Given the description of an element on the screen output the (x, y) to click on. 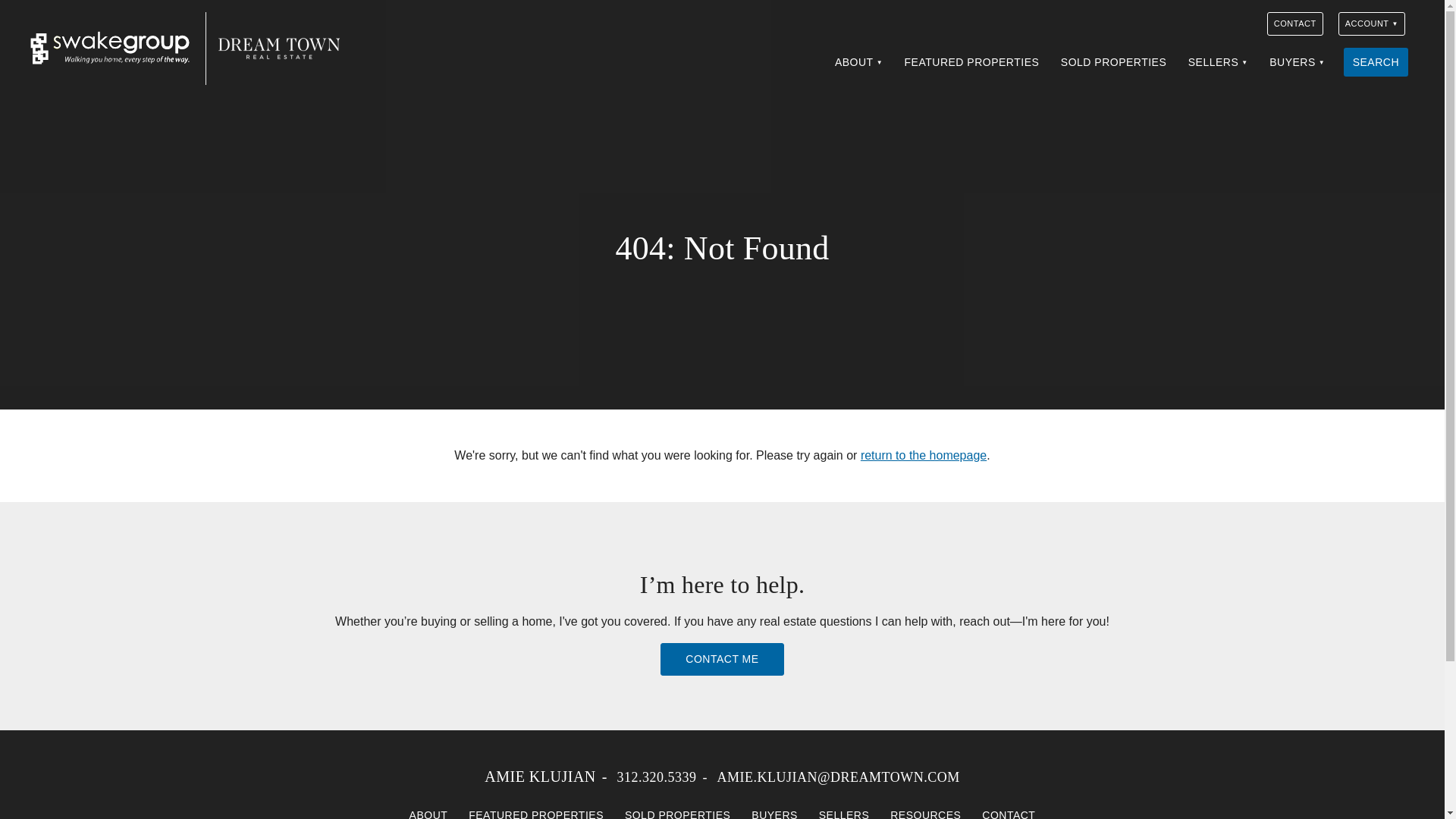
SOLD PROPERTIES (1113, 61)
FEATURED PROPERTIES (971, 61)
CONTACT ME (722, 658)
CONTACT (1294, 24)
AMIE KLUJIAN (539, 776)
return to the homepage (923, 454)
BUYERS (774, 809)
SEARCH (1375, 61)
SOLD PROPERTIES (677, 809)
ACCOUNT (1371, 24)
